Given the description of an element on the screen output the (x, y) to click on. 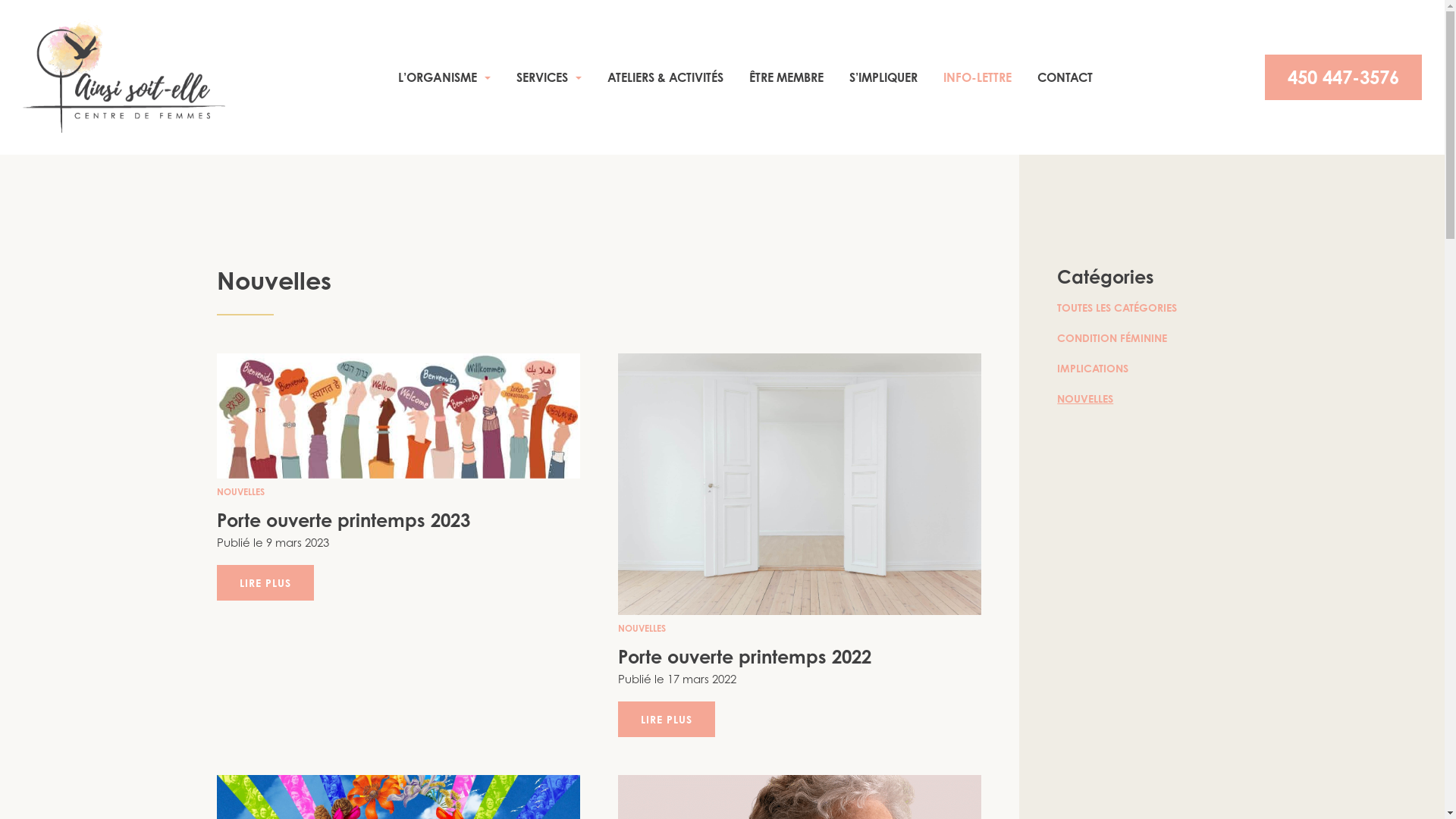
Porte ouverte printemps 2022 Element type: text (744, 656)
NOUVELLES Element type: text (1085, 398)
Centre de femmes Ainsi soit-elle Element type: hover (123, 75)
LIRE PLUS Element type: text (264, 582)
Porte ouverte printemps 2023 Element type: text (343, 519)
NOUVELLES Element type: text (240, 491)
NOUVELLES Element type: text (641, 627)
SERVICES Element type: text (548, 76)
CONTACT Element type: text (1064, 76)
450 447-3576 Element type: text (1342, 77)
LIRE PLUS Element type: text (666, 719)
INFO-LETTRE Element type: text (977, 76)
IMPLICATIONS Element type: text (1092, 367)
